Given the description of an element on the screen output the (x, y) to click on. 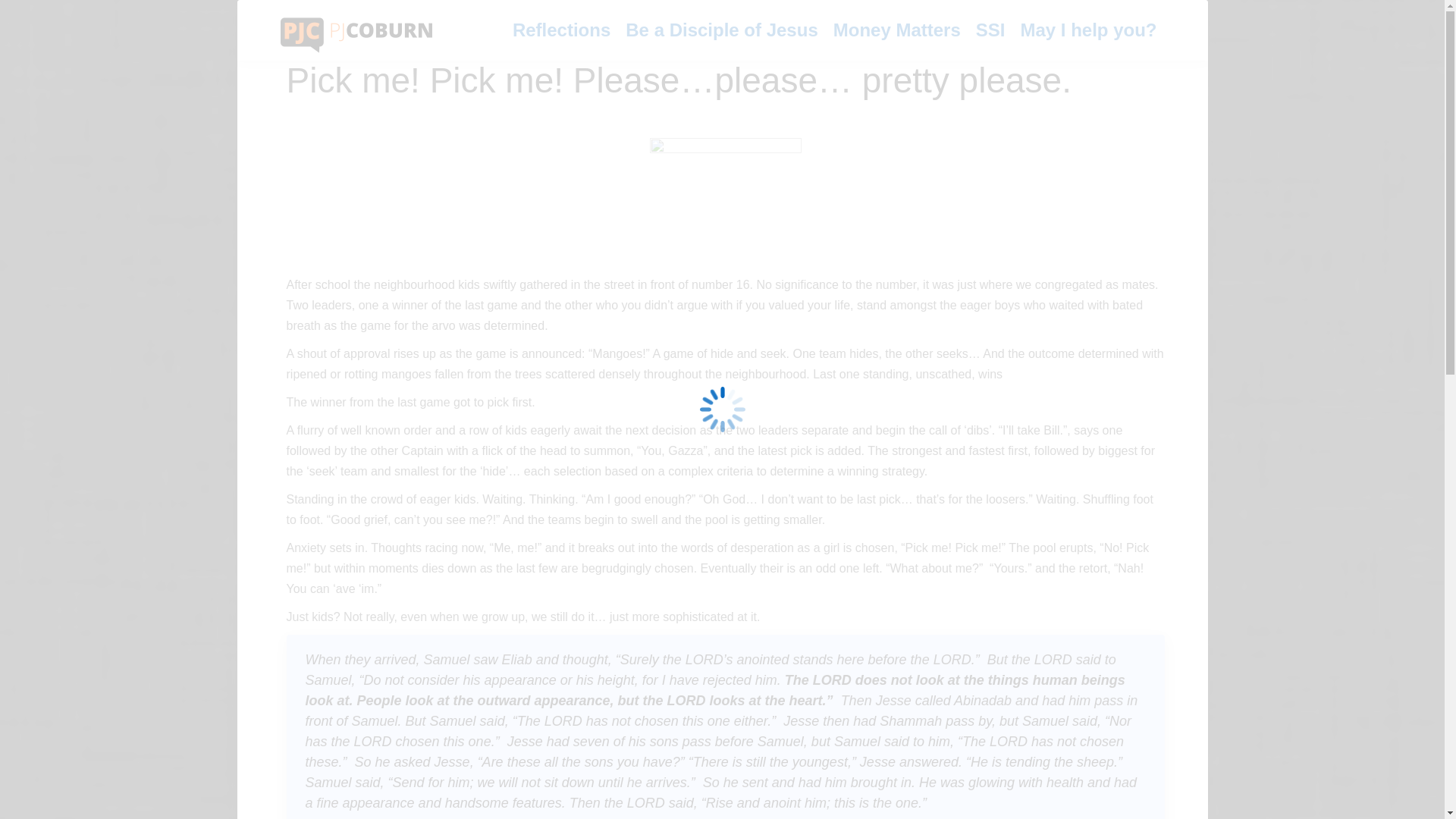
Reflections (561, 30)
SSI (990, 30)
Be a Disciple of Jesus (721, 30)
Money Matters (896, 30)
May I help you? (1087, 30)
